Given the description of an element on the screen output the (x, y) to click on. 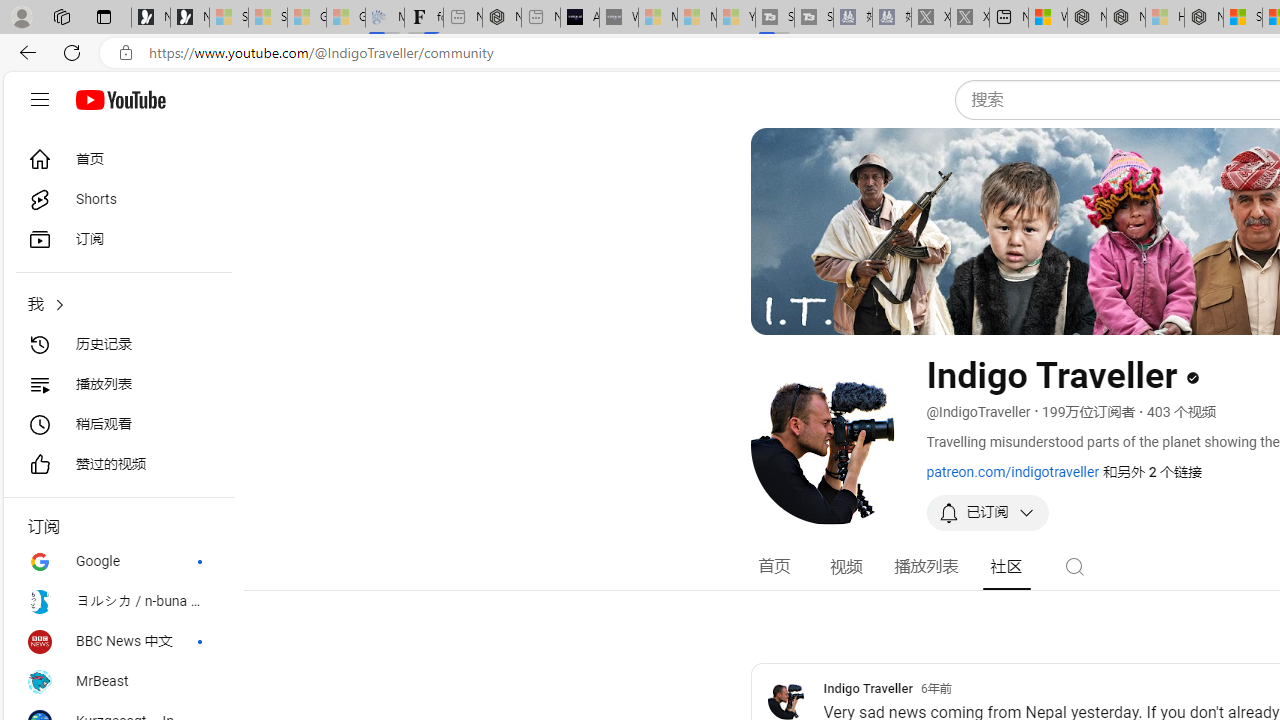
Shorts (117, 200)
